Given the description of an element on the screen output the (x, y) to click on. 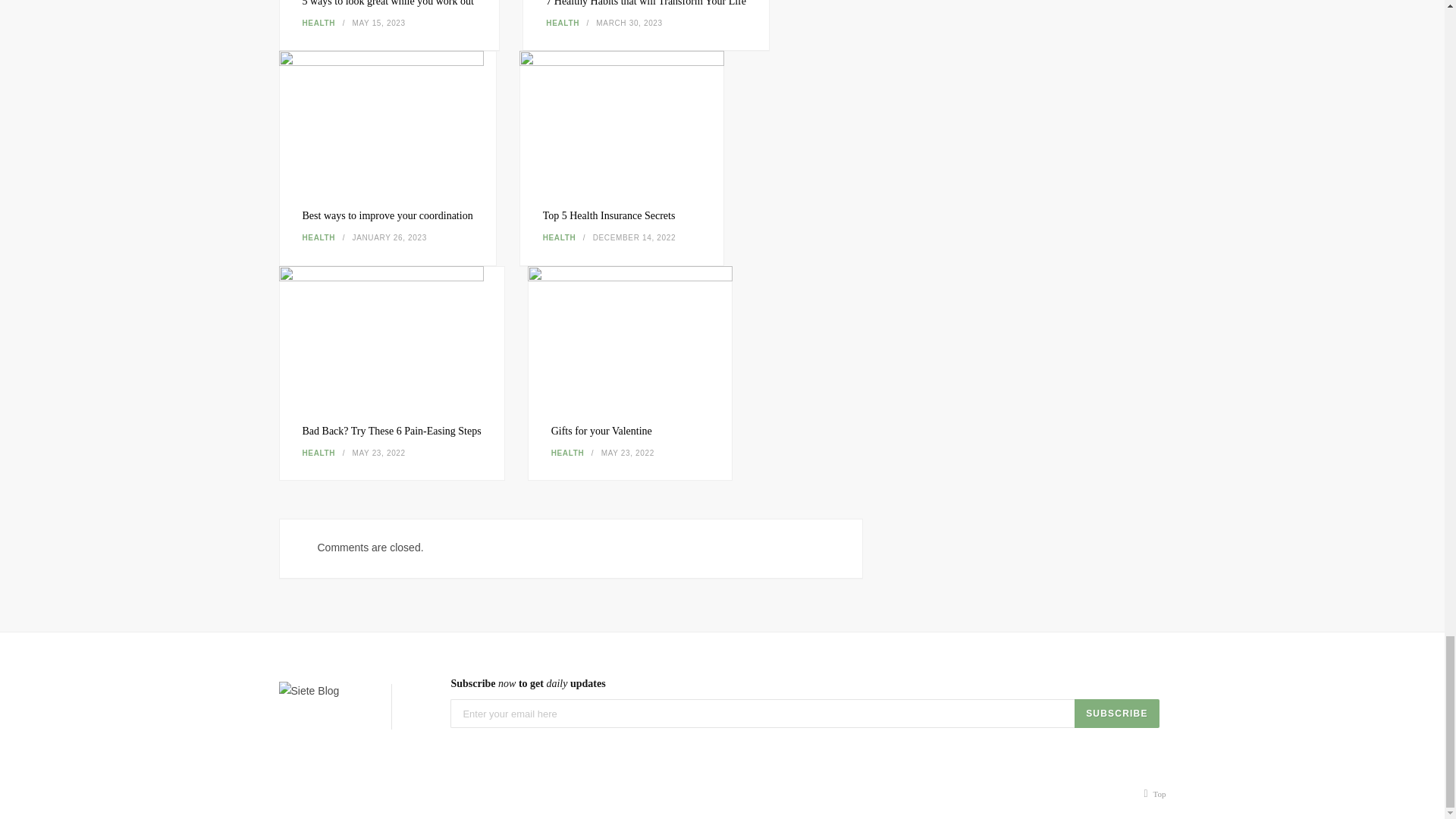
Subscribe (1116, 713)
HEALTH (317, 237)
Bad Back? Try These 6 Pain-Easing Steps (390, 430)
HEALTH (568, 452)
Best ways to improve your coordination (386, 215)
HEALTH (317, 22)
7 Healthy Habits that will Transform Your Life (645, 3)
Top 5 Health Insurance Secrets (621, 118)
HEALTH (317, 452)
5 ways to look great while you work out  (388, 3)
